Given the description of an element on the screen output the (x, y) to click on. 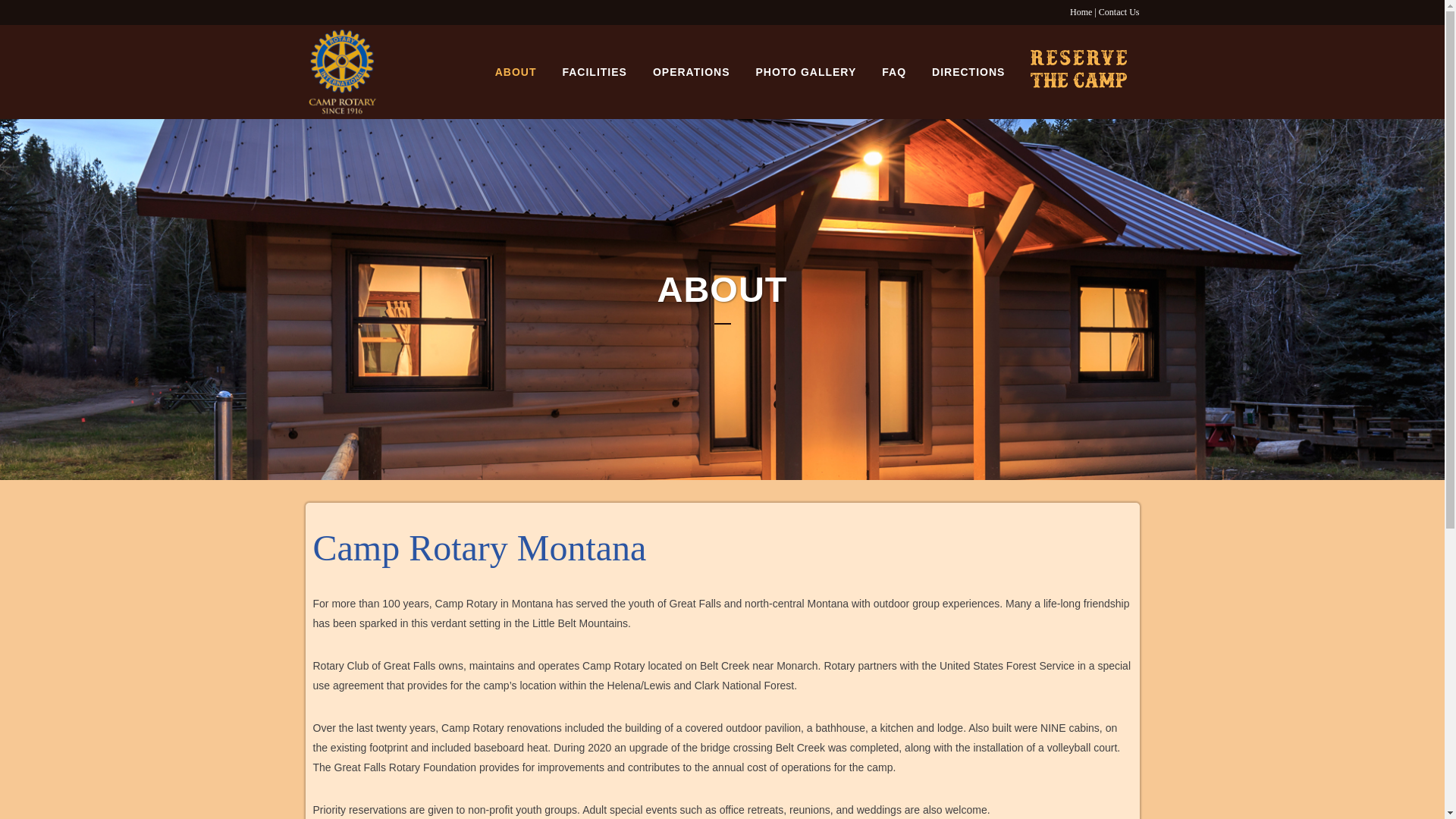
Home (1081, 11)
FACILITIES (593, 71)
DIRECTIONS (967, 71)
PHOTO GALLERY (805, 71)
OPERATIONS (691, 71)
Contact Us (1119, 11)
